Given the description of an element on the screen output the (x, y) to click on. 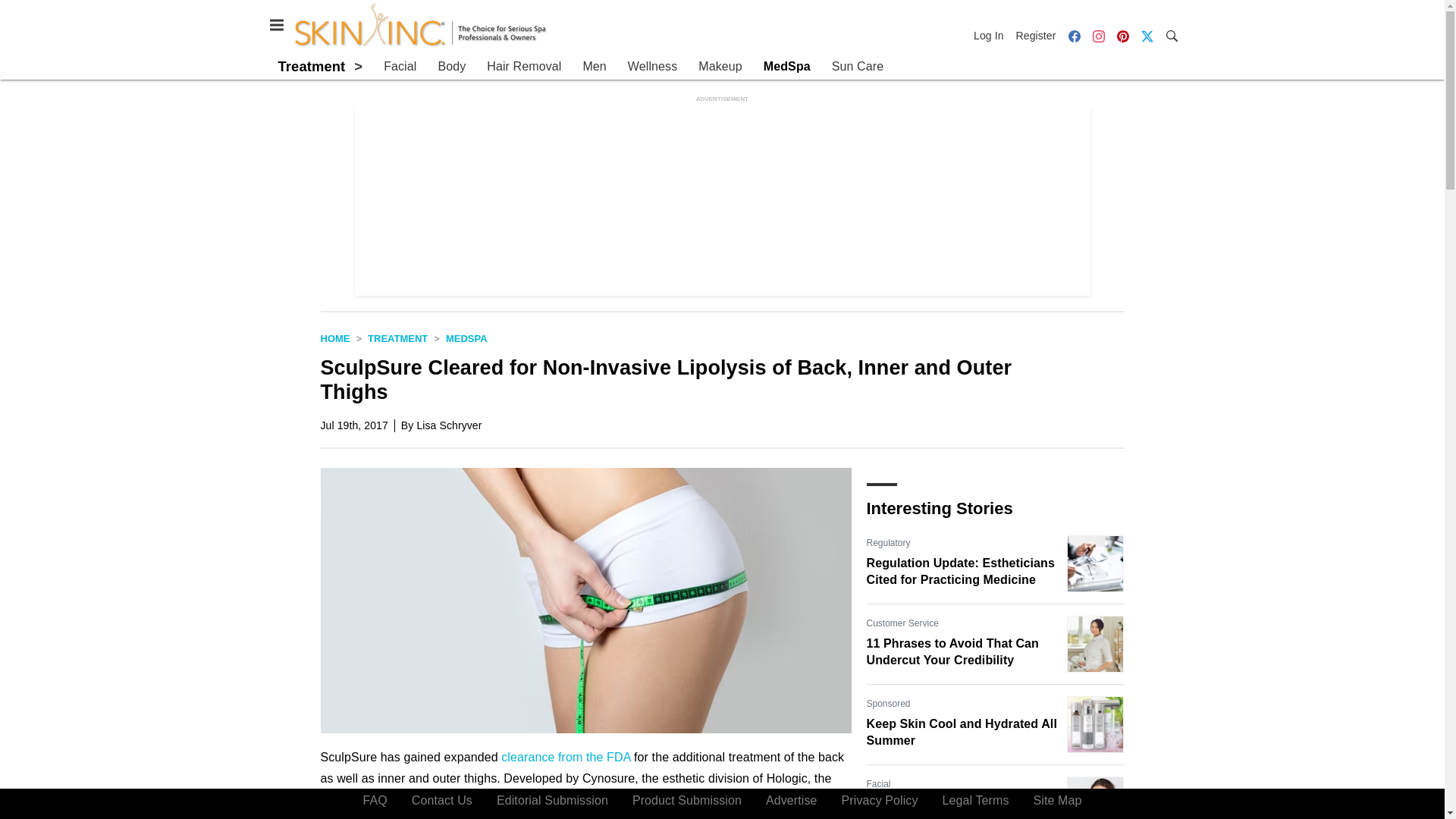
MedSpa (466, 337)
Hair Removal (523, 66)
Pinterest icon (1121, 35)
Men (593, 66)
Sponsored (888, 703)
Search (1170, 34)
Treatment (311, 65)
Makeup (720, 66)
Wellness (652, 66)
Twitter X icon (1146, 35)
